Given the description of an element on the screen output the (x, y) to click on. 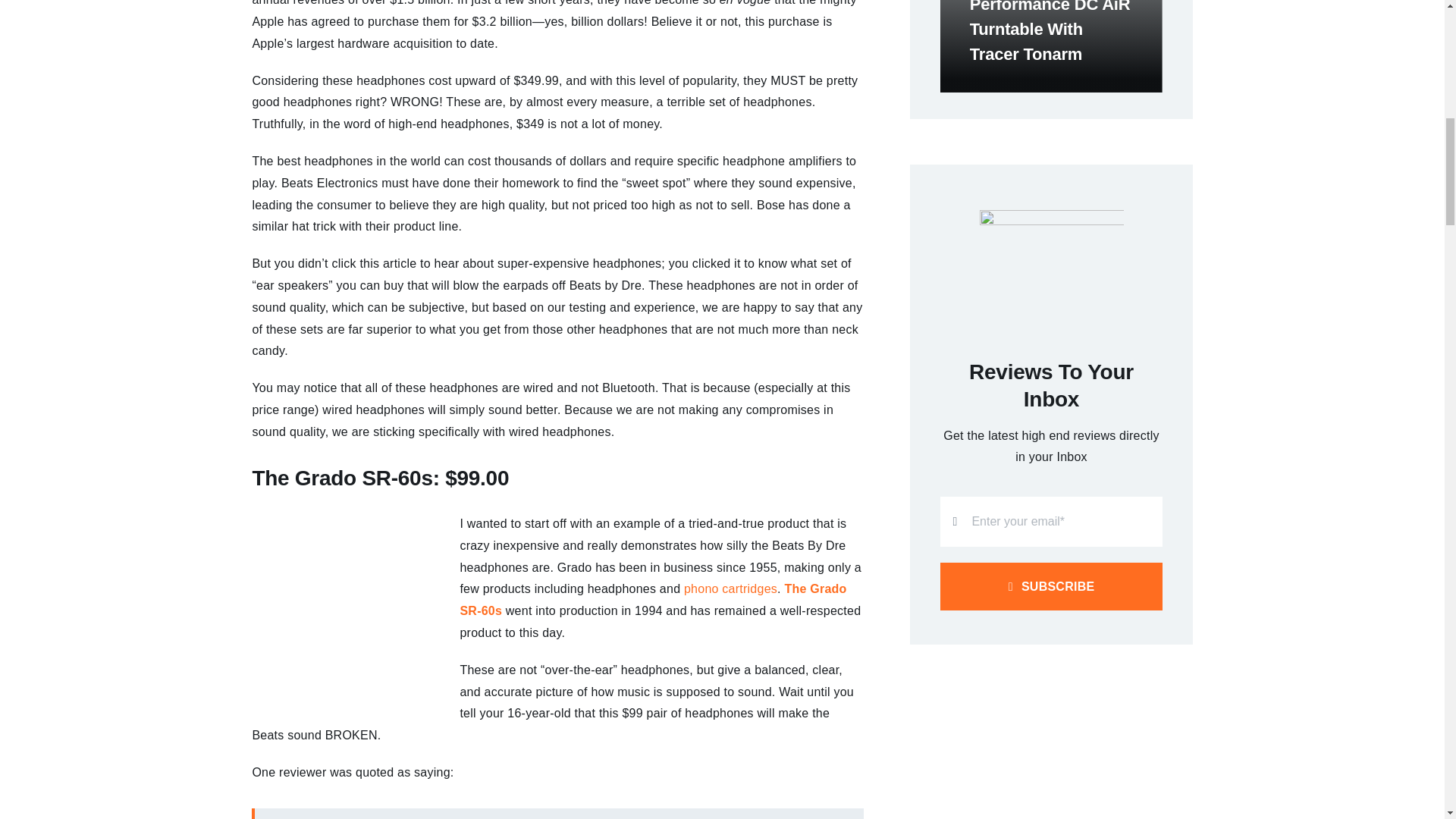
SUBSCRIBE (1050, 549)
newsletter-icon (1051, 266)
phono cartridges (730, 588)
The Grado SR-60s (652, 599)
